Given the description of an element on the screen output the (x, y) to click on. 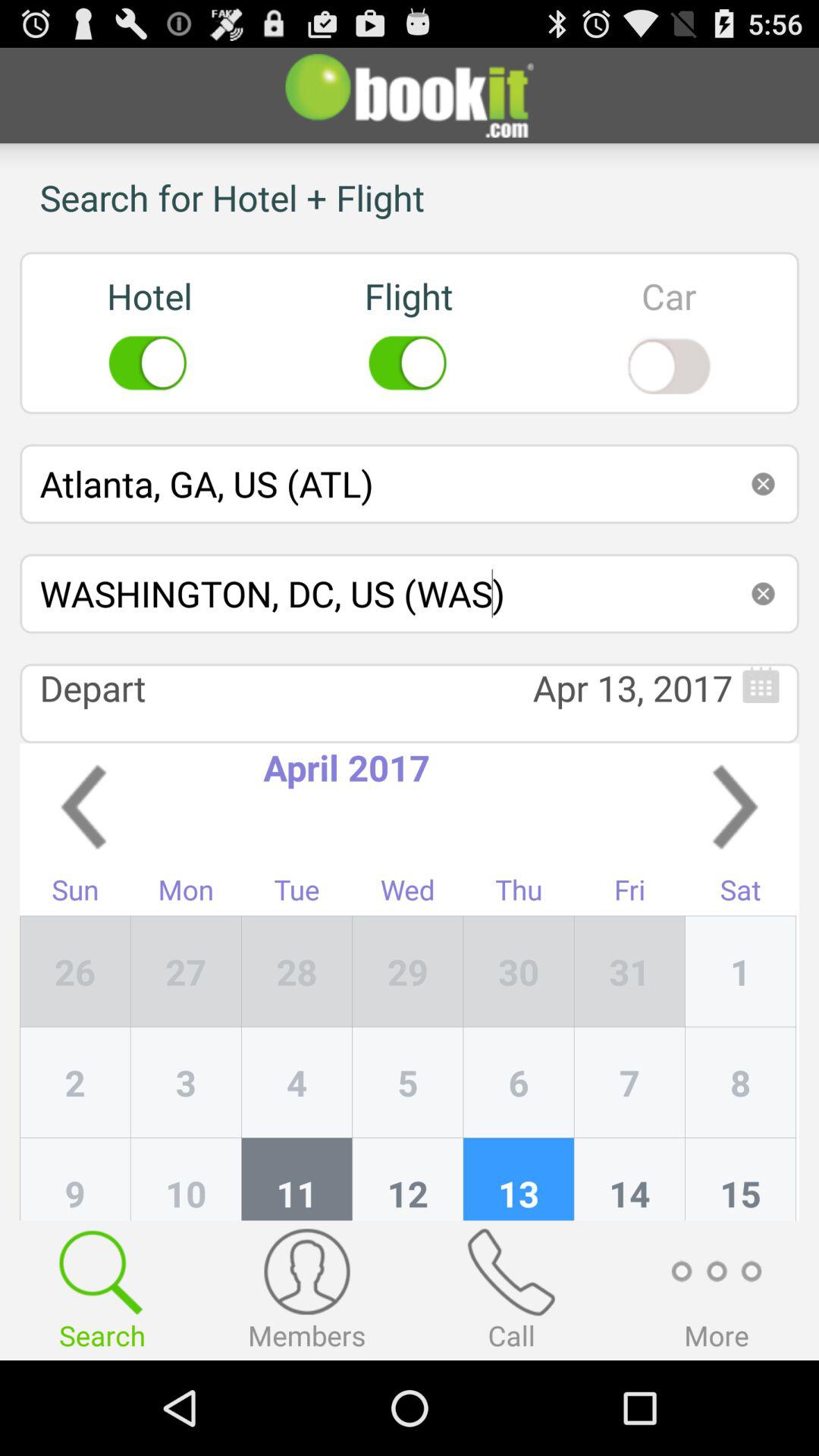
jump until 15 (740, 1179)
